Given the description of an element on the screen output the (x, y) to click on. 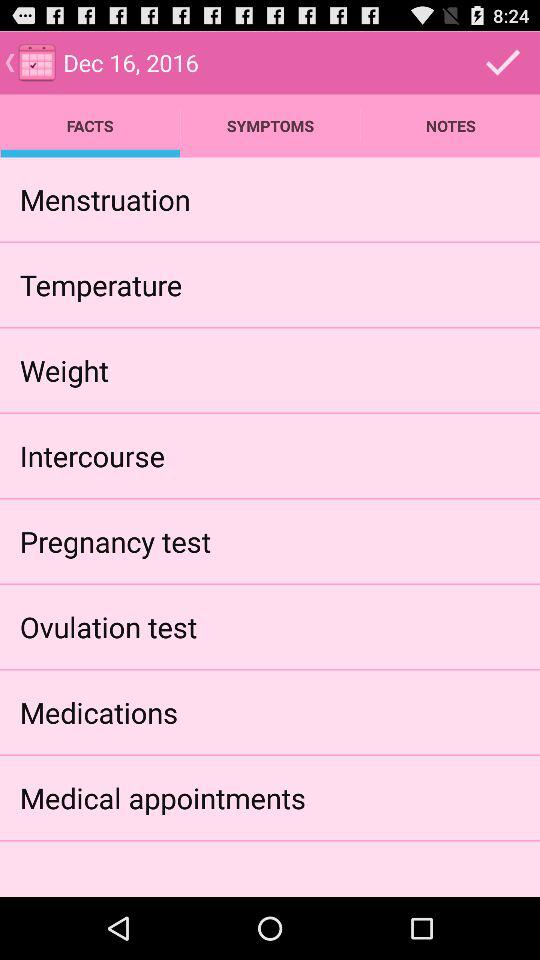
click icon above the temperature app (104, 199)
